Given the description of an element on the screen output the (x, y) to click on. 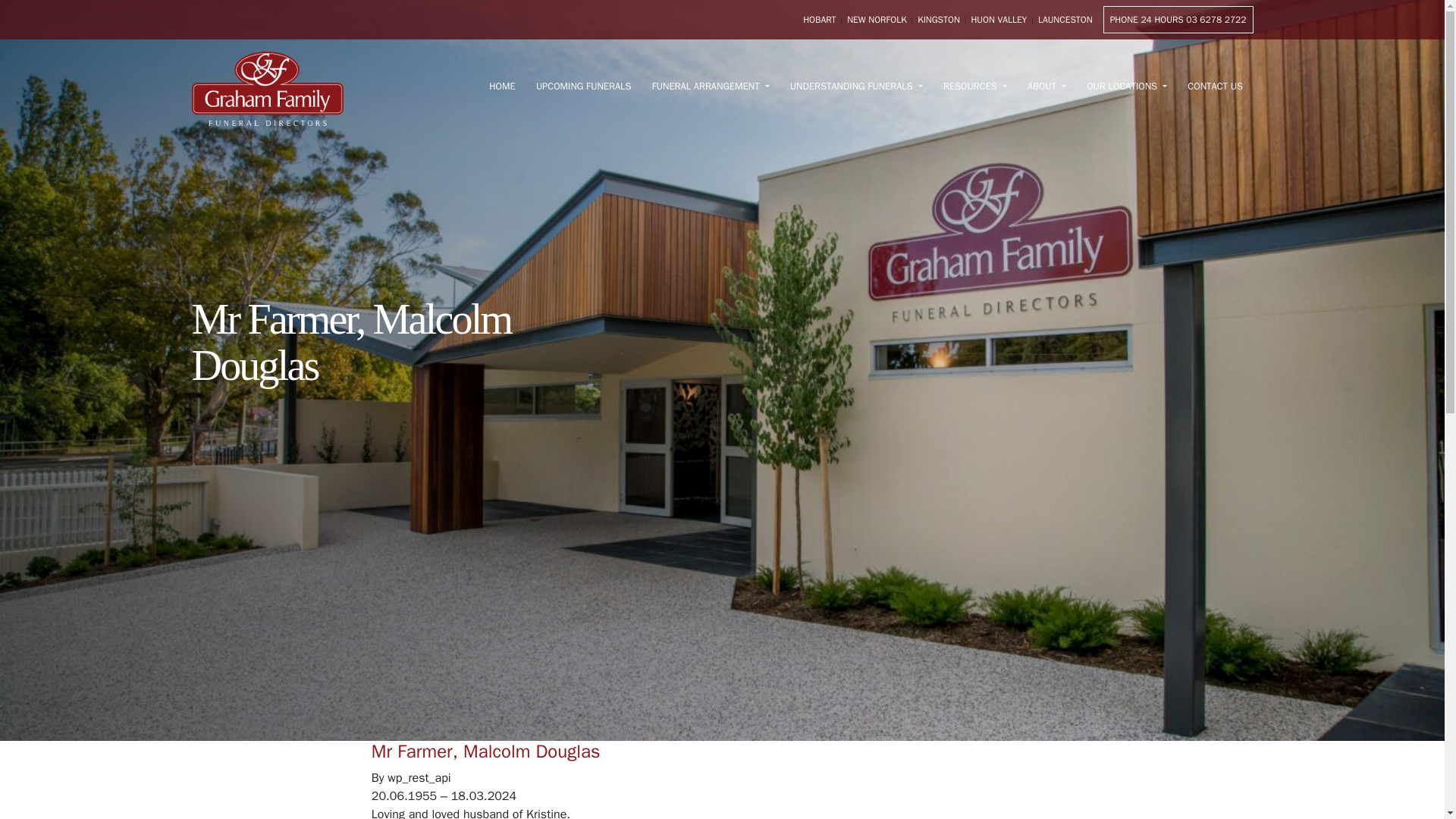
HOME (501, 88)
PHONE 24 HOURS 03 6278 2722 (1178, 19)
UNDERSTANDING FUNERALS (856, 88)
SKIP TO CONTENT (12, 6)
UPCOMING FUNERALS (582, 88)
RESOURCES (974, 88)
HOBART (818, 19)
LAUNCESTON (1065, 19)
HUON VALLEY (998, 19)
NEW NORFOLK (877, 19)
